Given the description of an element on the screen output the (x, y) to click on. 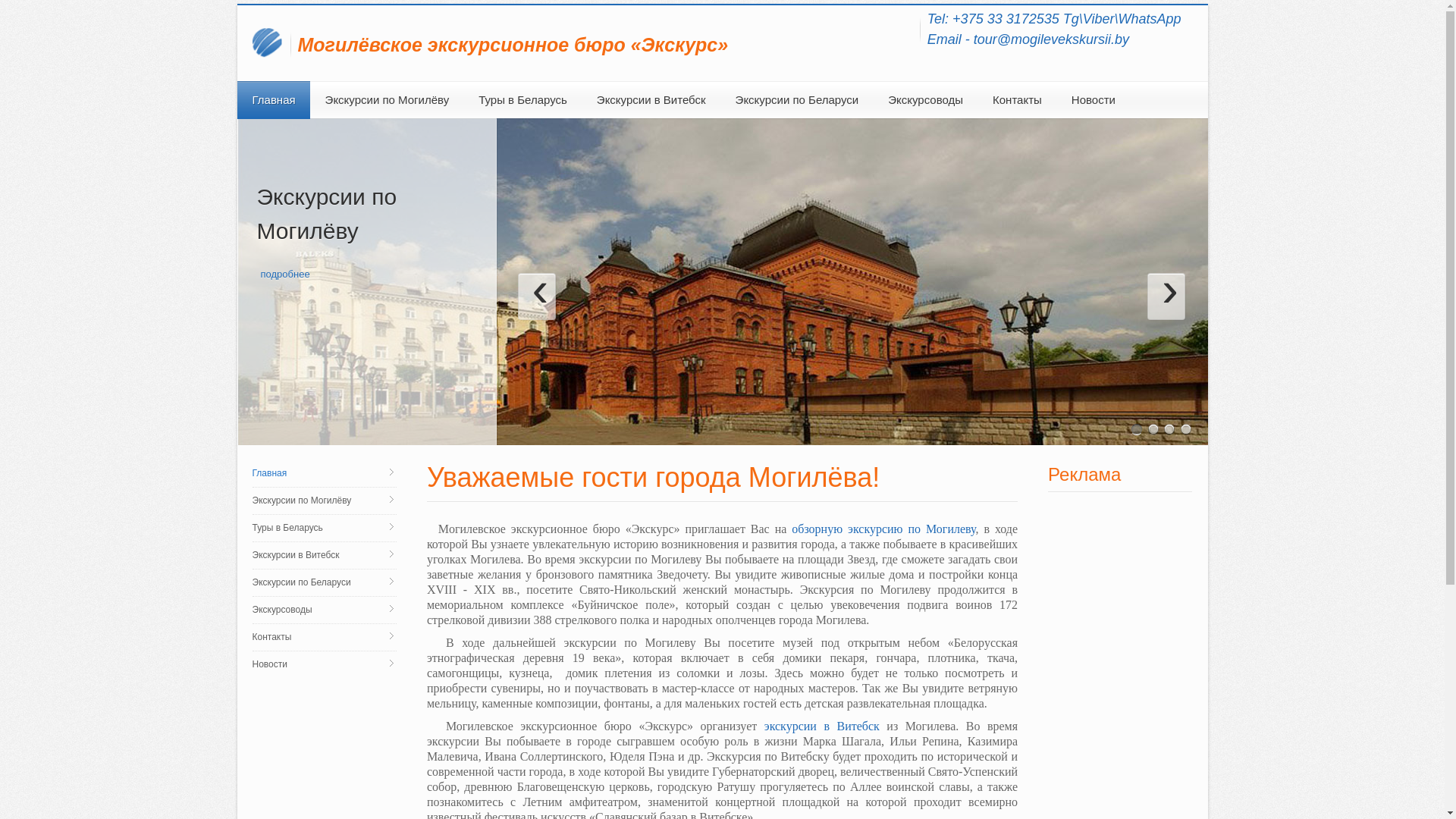
Tel: +375 33 3172535 Tg\Viber\WhatsApp Element type: text (1054, 18)
Email - tour@mogilevekskursii.by Element type: text (1028, 39)
